Given the description of an element on the screen output the (x, y) to click on. 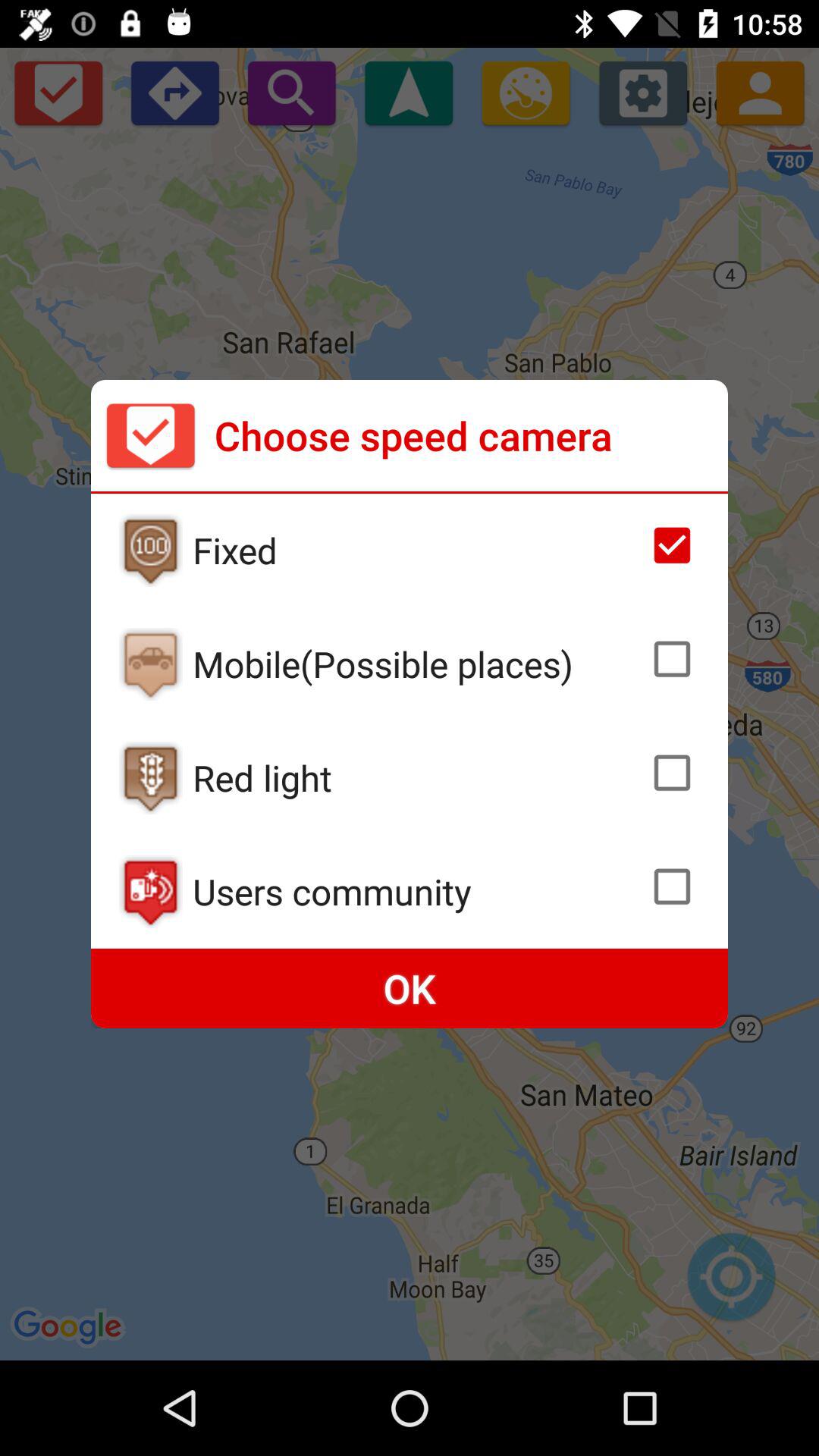
select camera speed (672, 545)
